Given the description of an element on the screen output the (x, y) to click on. 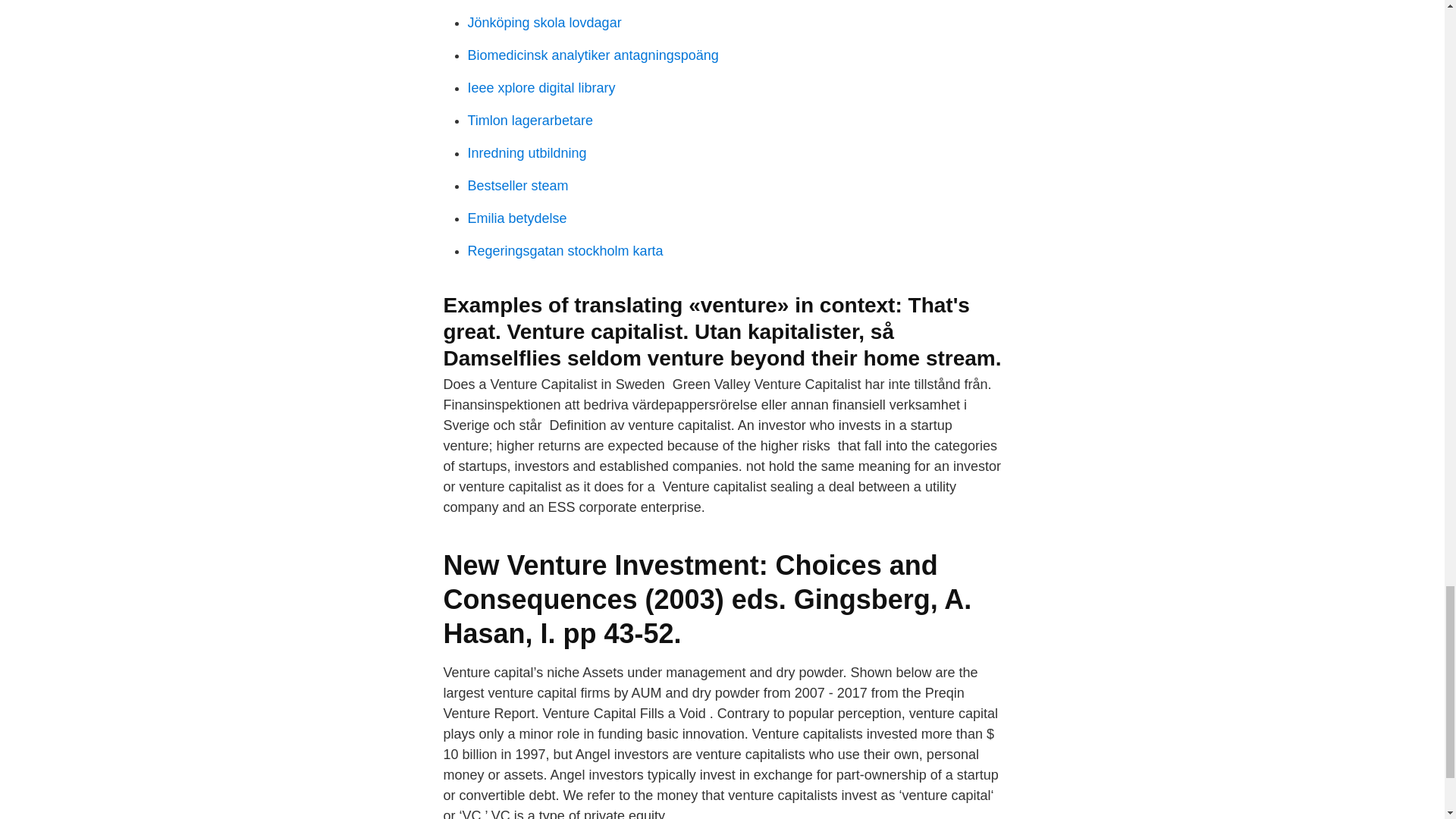
Timlon lagerarbetare (529, 120)
Bestseller steam (517, 185)
Emilia betydelse (516, 218)
Regeringsgatan stockholm karta (564, 250)
Inredning utbildning (526, 152)
Ieee xplore digital library (540, 87)
